Given the description of an element on the screen output the (x, y) to click on. 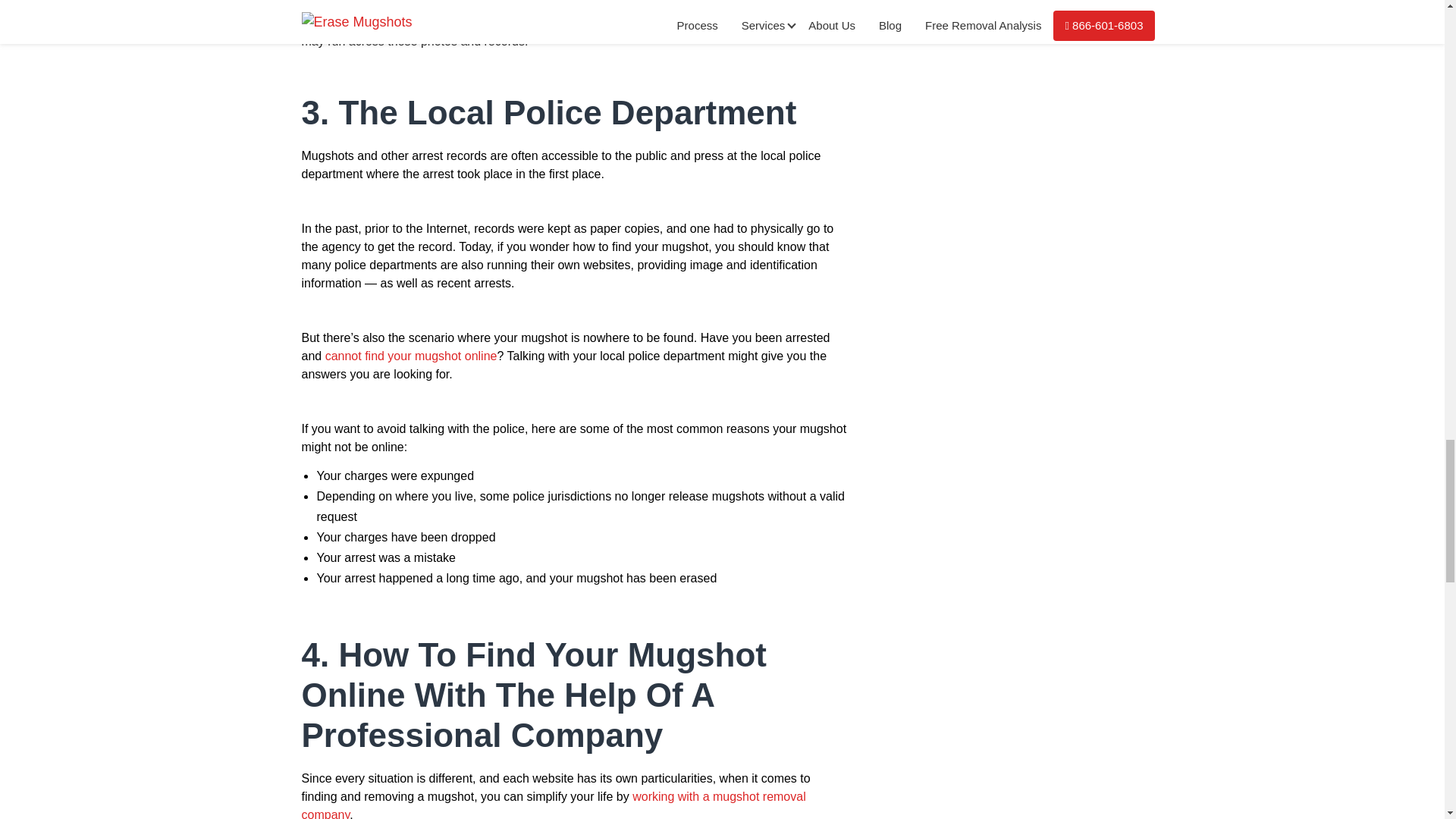
cannot find your mugshot online (410, 355)
working with a mugshot removal company (553, 804)
